Given the description of an element on the screen output the (x, y) to click on. 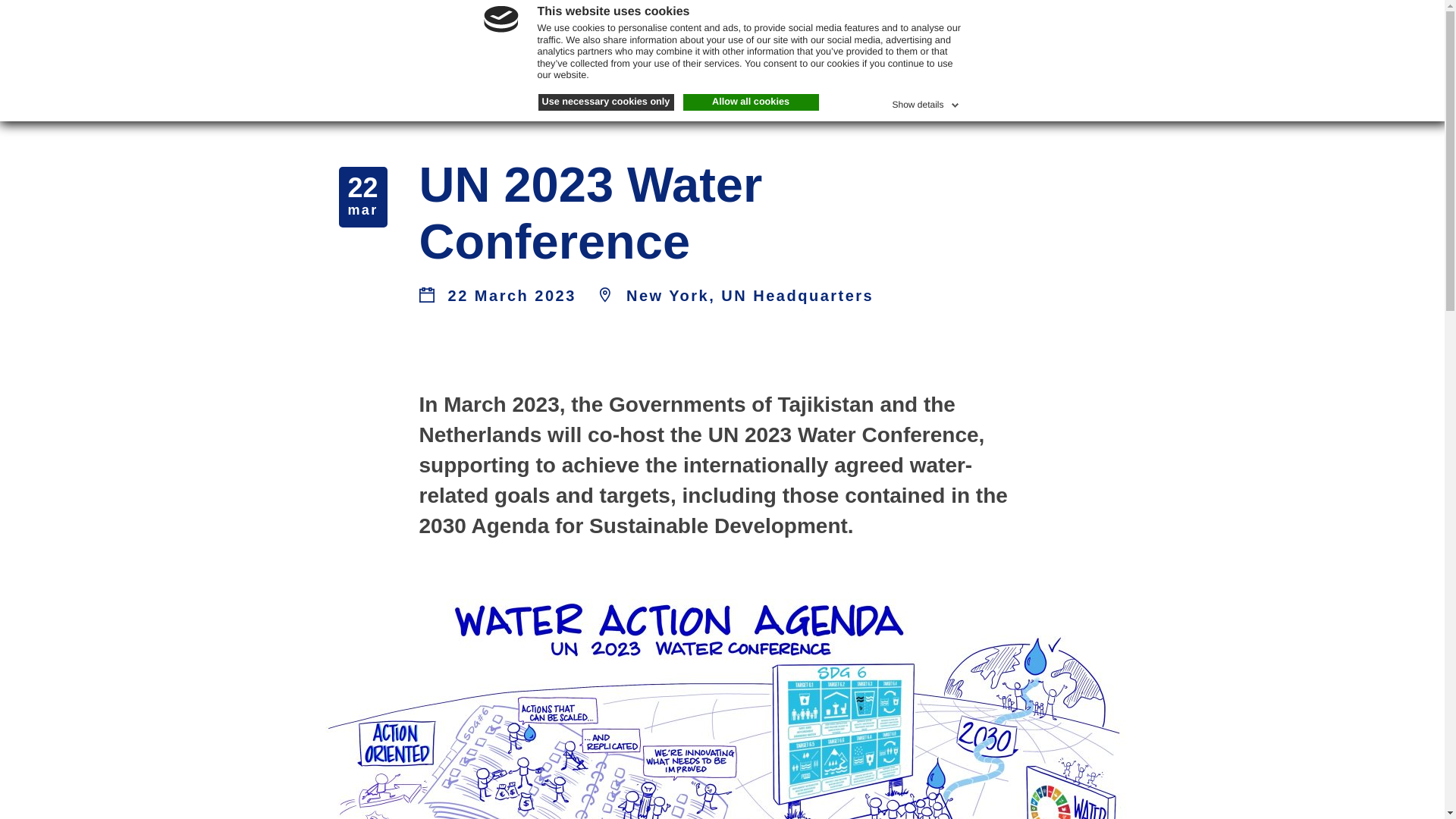
Use necessary cookies only (606, 102)
Allow all cookies (750, 102)
Show details (925, 102)
